Given the description of an element on the screen output the (x, y) to click on. 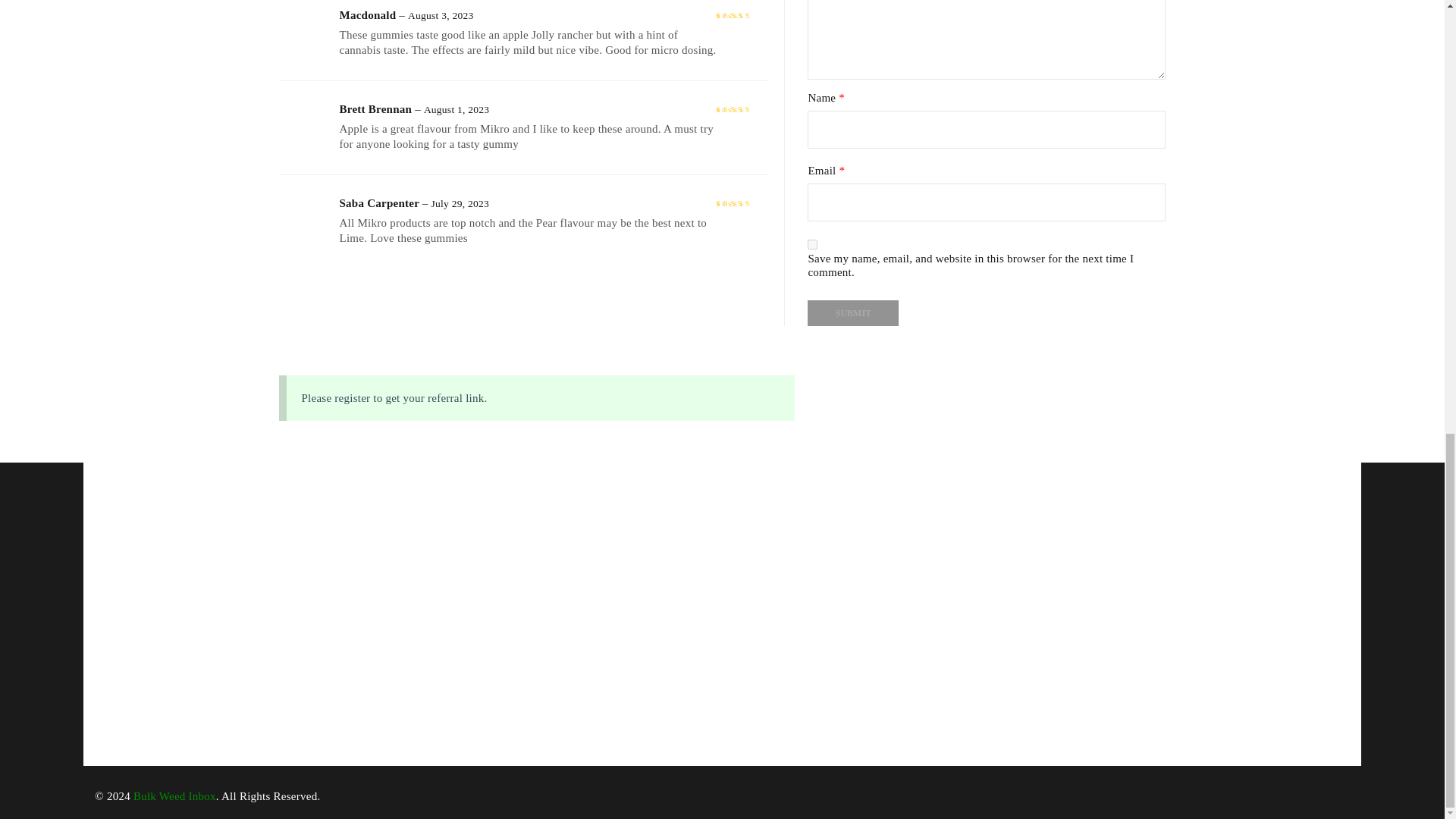
Submit (853, 312)
yes (812, 244)
